Given the description of an element on the screen output the (x, y) to click on. 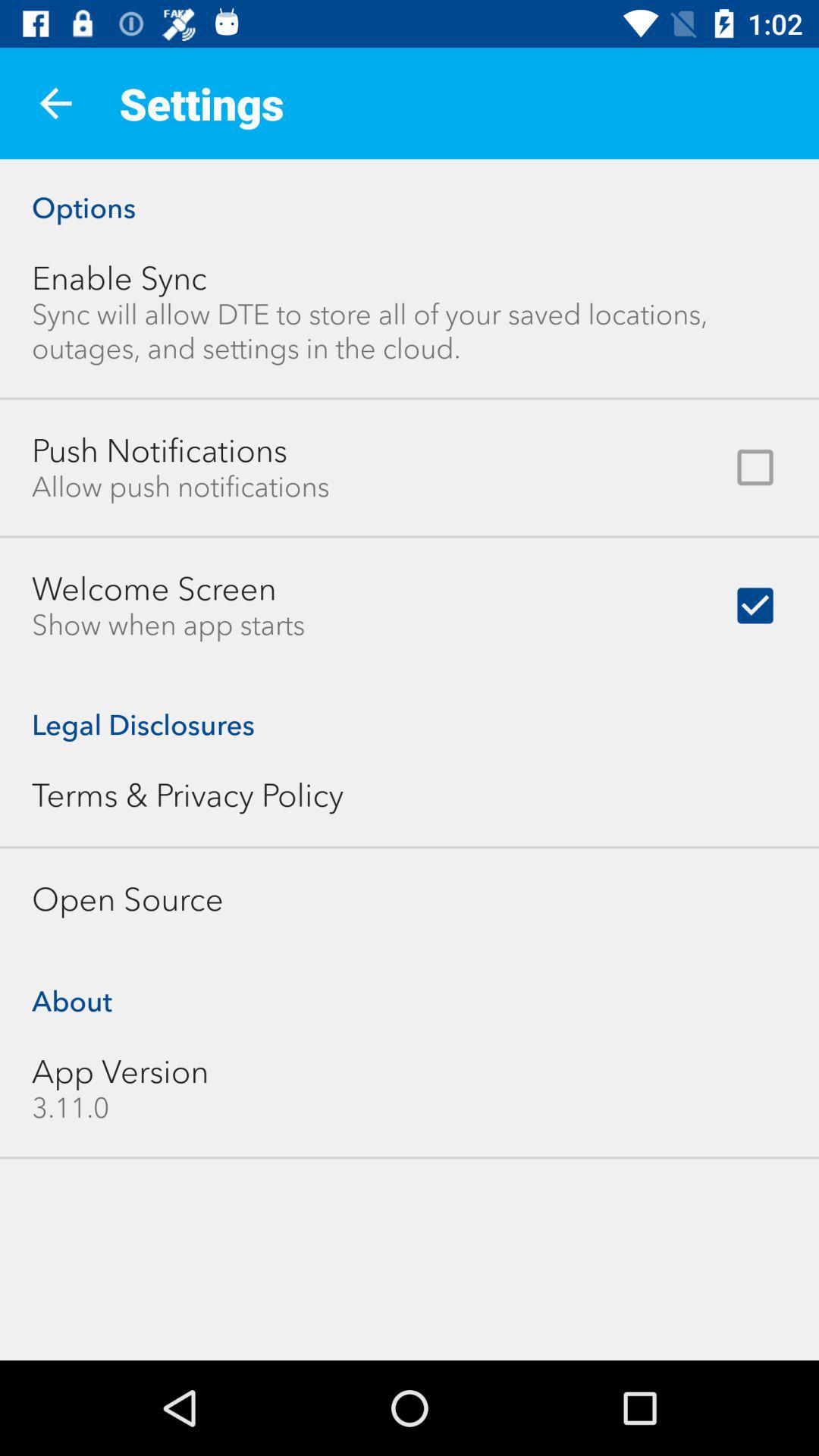
click icon to the left of settings item (55, 103)
